Given the description of an element on the screen output the (x, y) to click on. 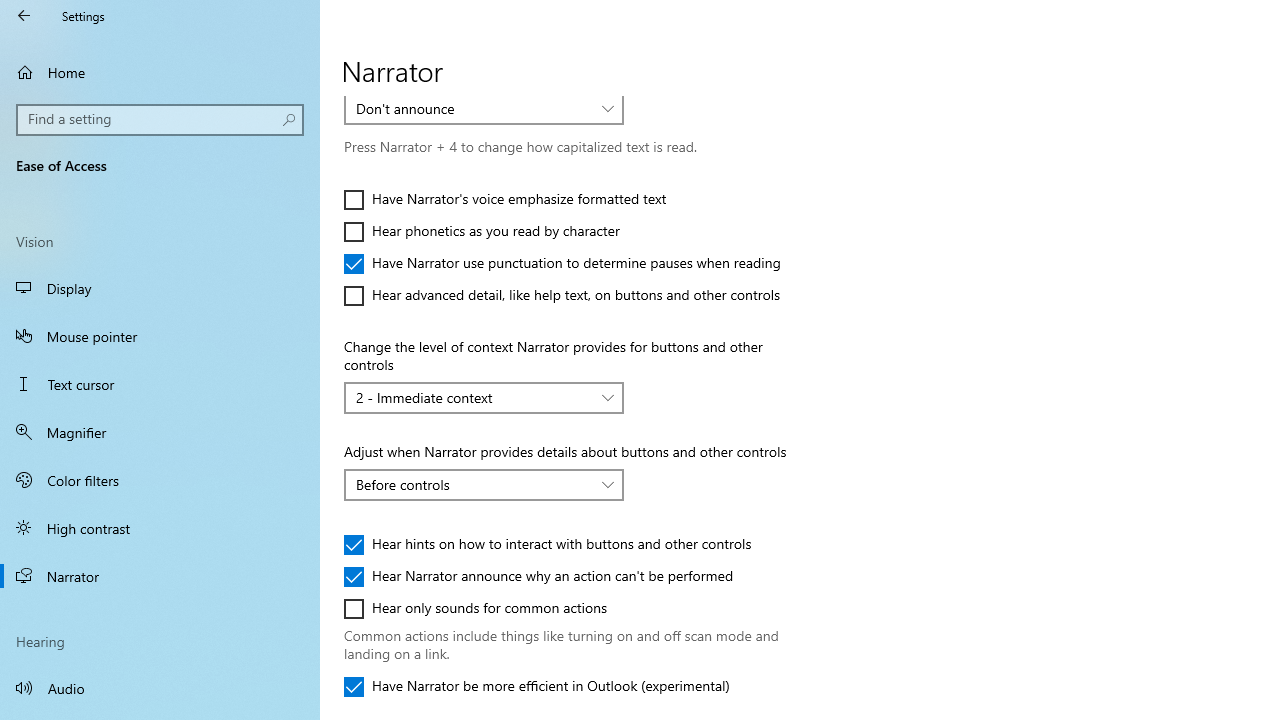
Don't announce (473, 108)
Mouse pointer (160, 335)
Hear Narrator announce why an action can't be performed (538, 576)
Display (160, 287)
Change how capitalized text is read (484, 108)
Hear phonetics as you read by character (481, 231)
Have Narrator be more efficient in Outlook (experimental) (536, 686)
Hear only sounds for common actions (476, 608)
Search box, Find a setting (160, 119)
